Given the description of an element on the screen output the (x, y) to click on. 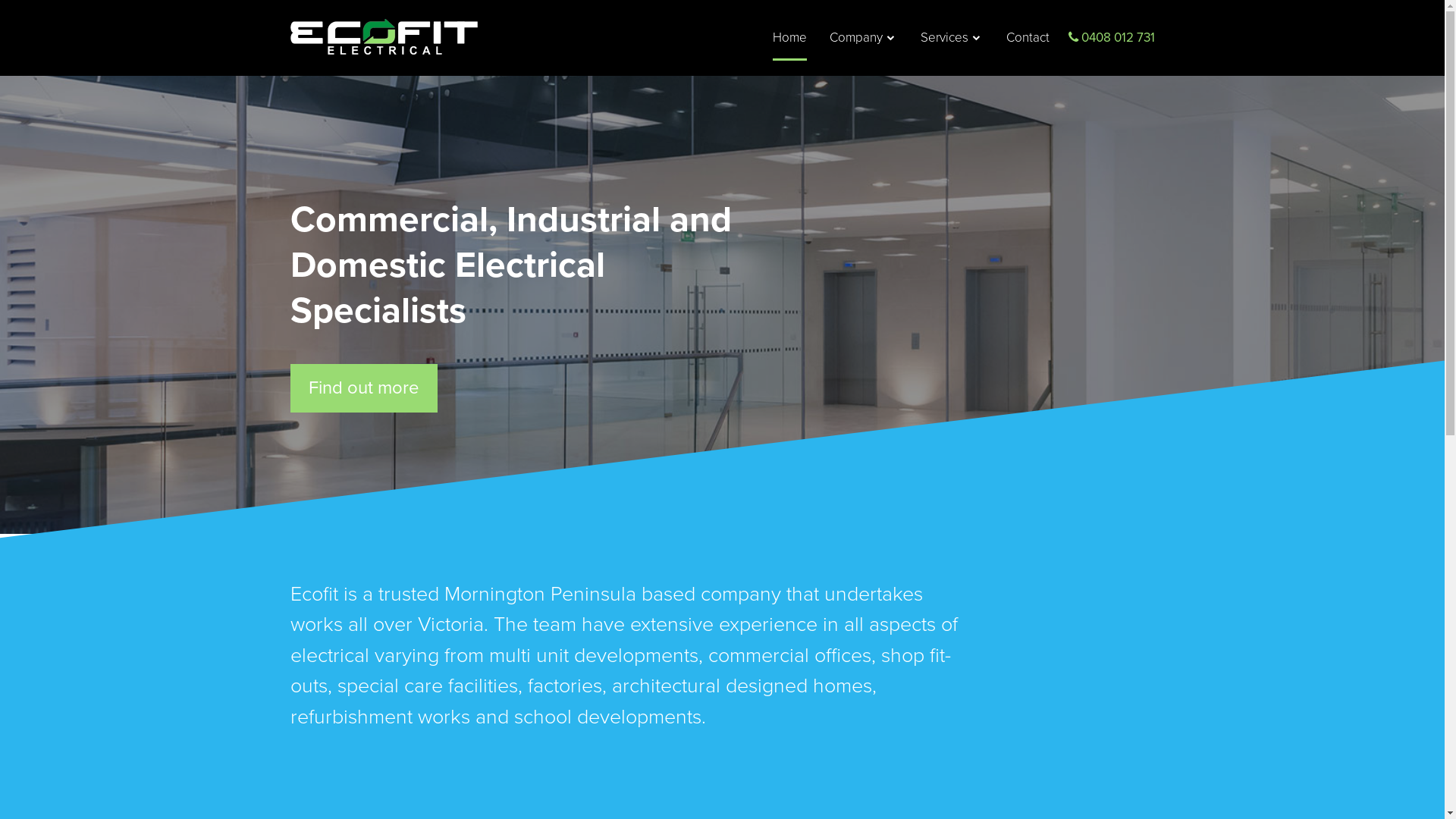
Home Element type: text (788, 37)
Company Element type: text (861, 37)
Find out more Element type: text (362, 388)
Ecofit Electrical Element type: hover (382, 36)
Contact Element type: text (1026, 37)
Services Element type: text (949, 37)
